Given the description of an element on the screen output the (x, y) to click on. 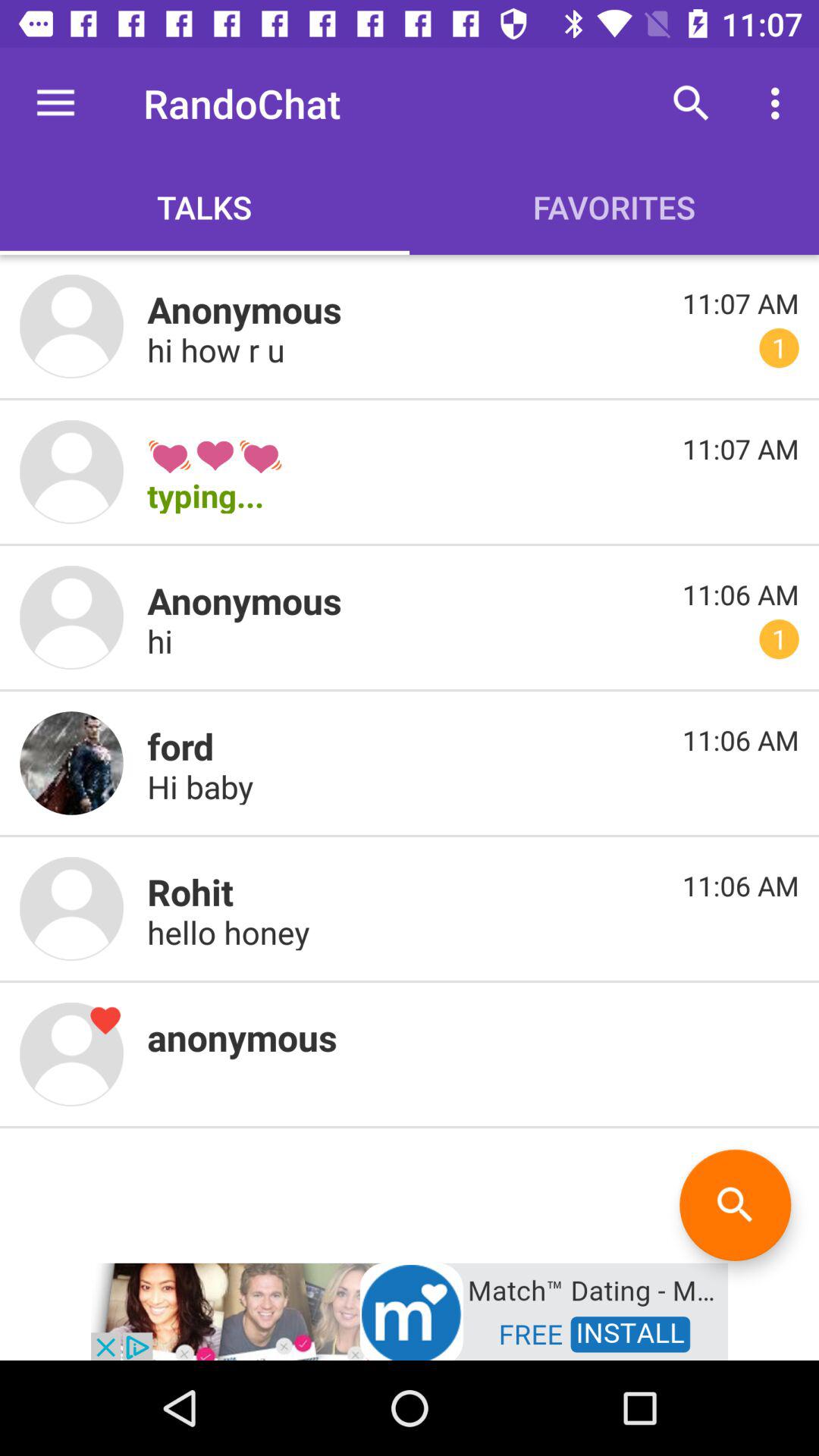
profile image (71, 1054)
